Given the description of an element on the screen output the (x, y) to click on. 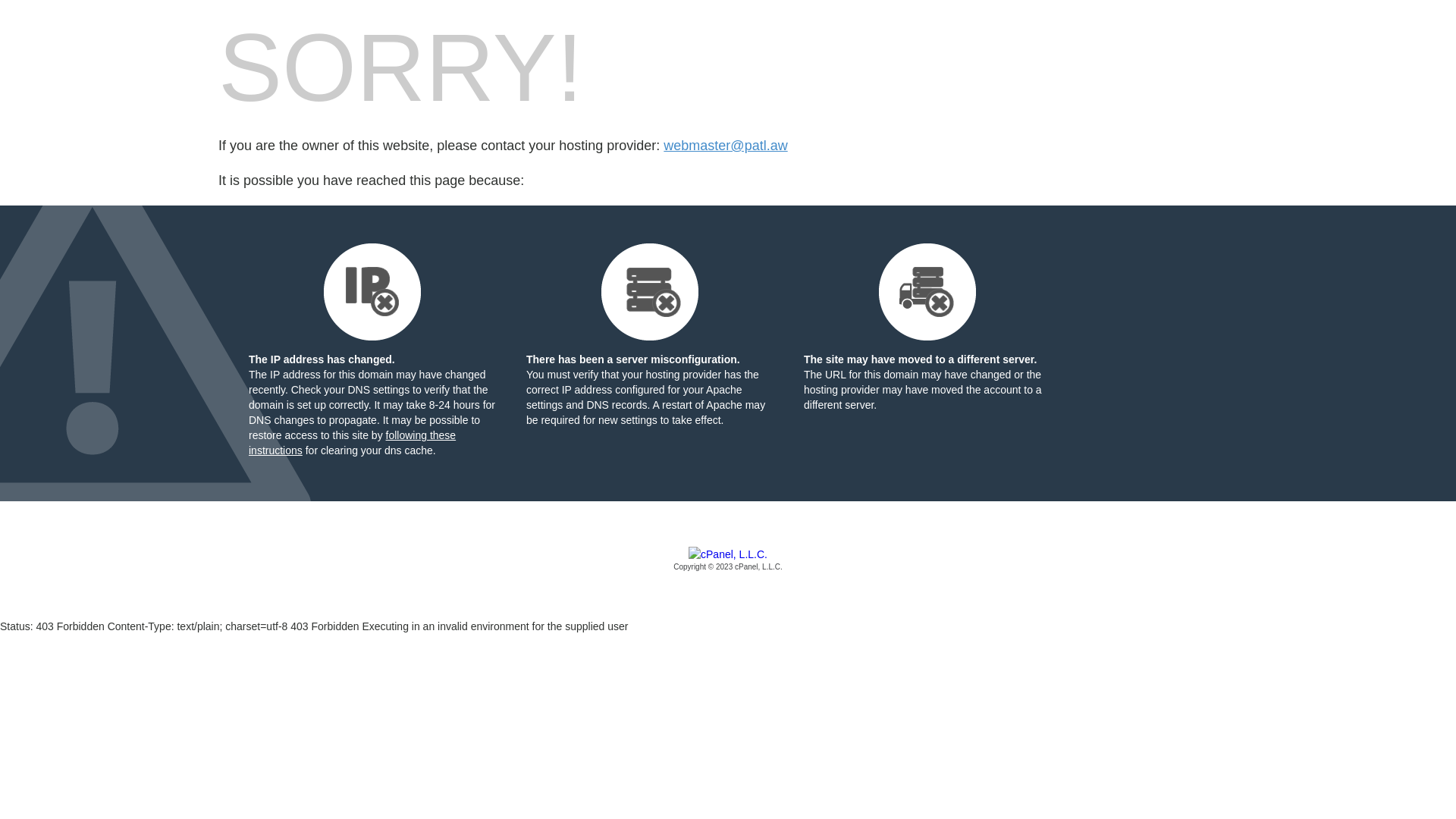
webmaster@patl.aw Element type: text (725, 145)
following these instructions Element type: text (351, 442)
